Given the description of an element on the screen output the (x, y) to click on. 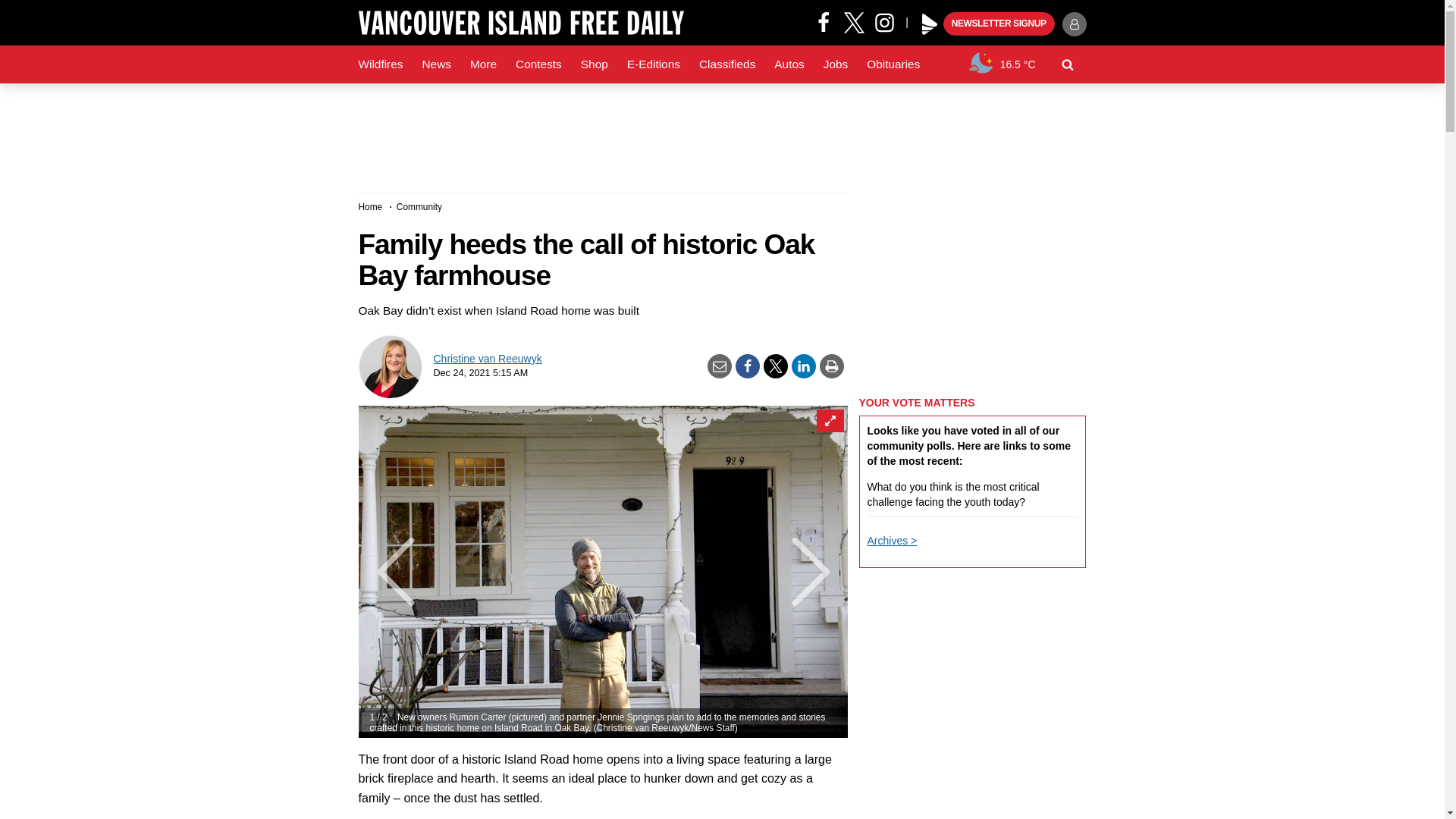
NEWSLETTER SIGNUP (998, 24)
Facebook (823, 21)
Expand (829, 420)
Wildfires (380, 64)
Instagram (889, 21)
Black Press Media (929, 24)
Play (929, 24)
X (853, 21)
News (435, 64)
